Given the description of an element on the screen output the (x, y) to click on. 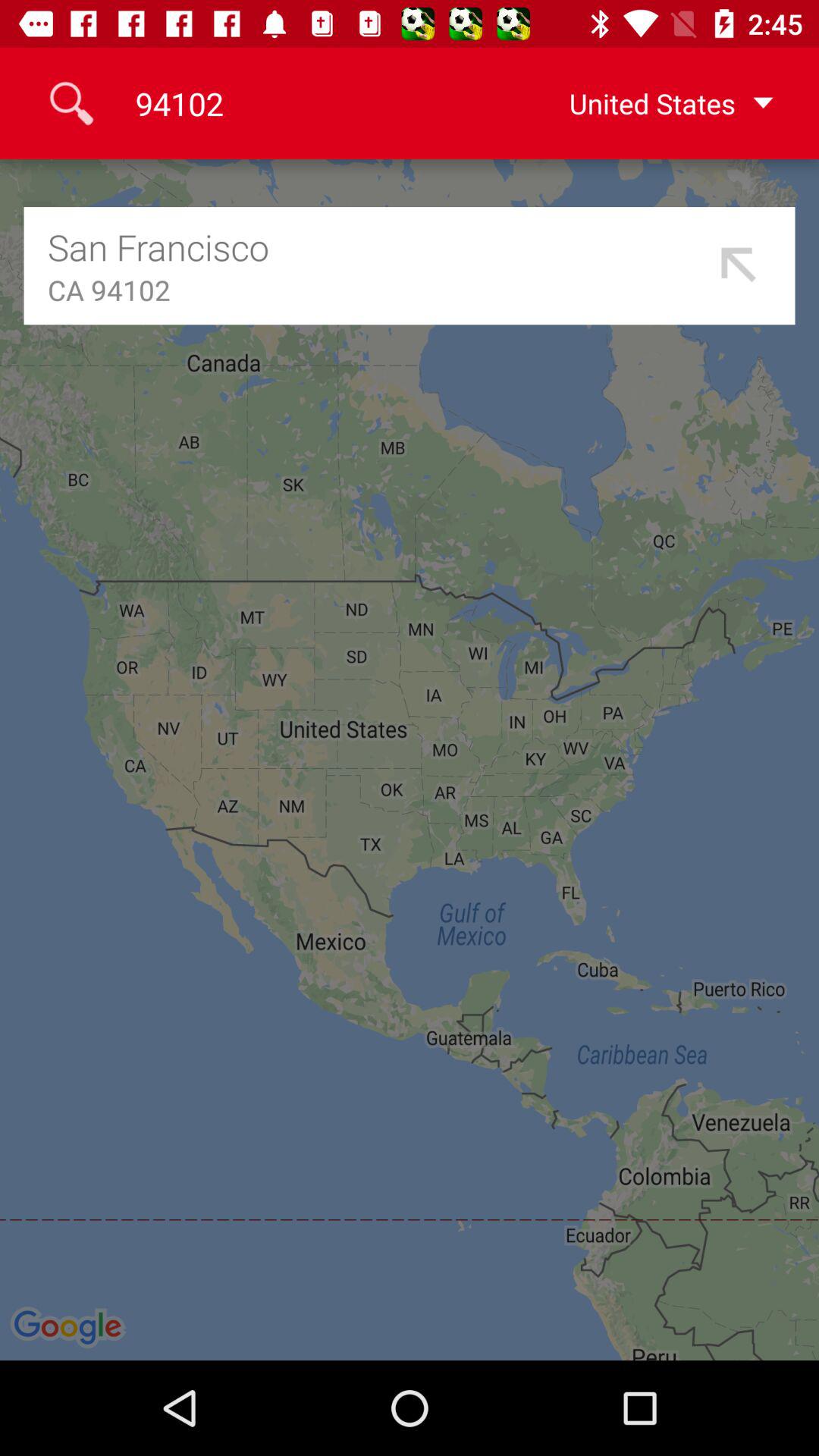
click the icon above ca 94102 (377, 246)
